Given the description of an element on the screen output the (x, y) to click on. 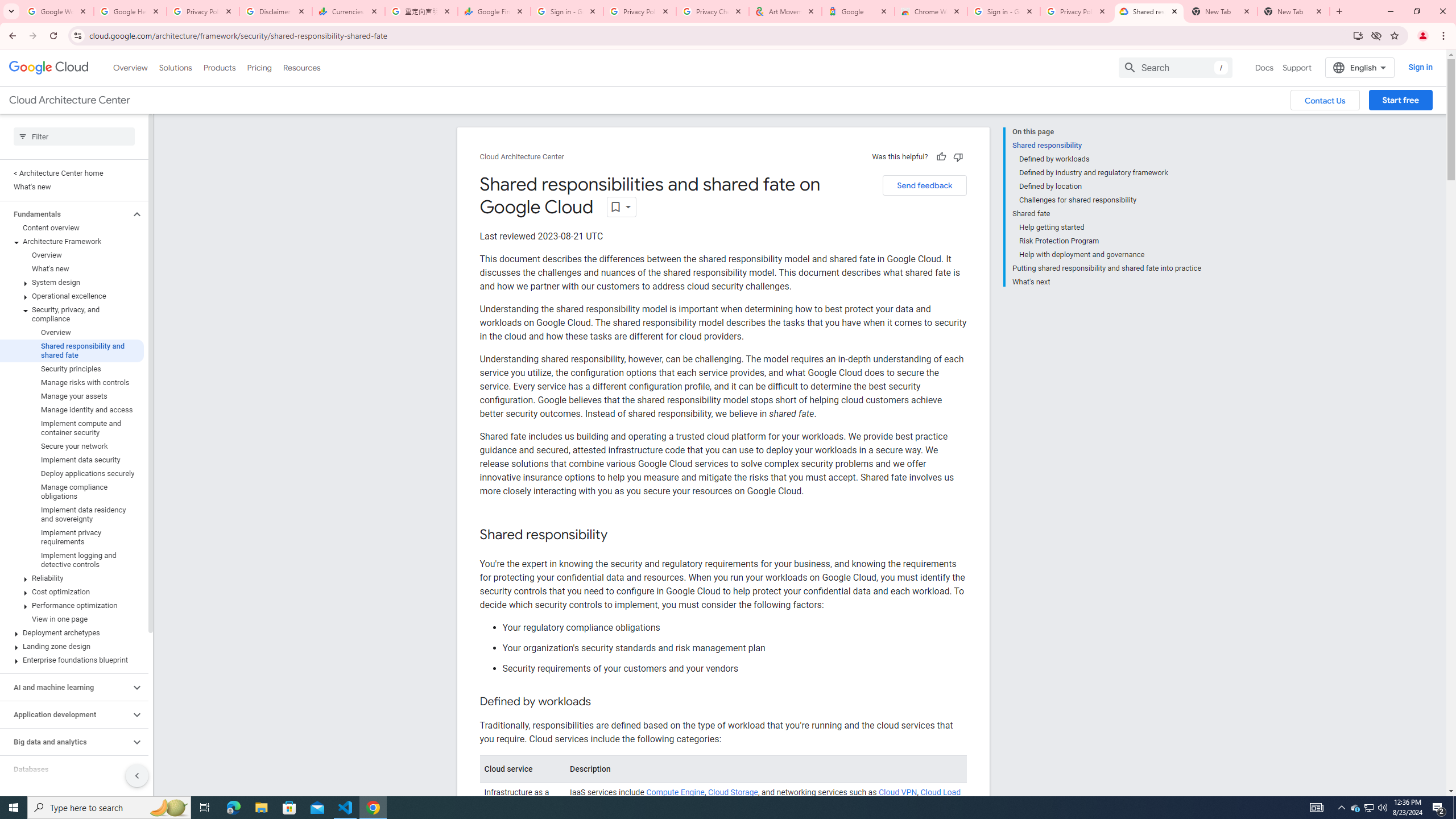
Currencies - Google Finance (348, 11)
Sign in - Google Accounts (1003, 11)
Compute Engine (675, 792)
Manage compliance obligations (72, 491)
Big data and analytics (64, 742)
Copy link to this section: Shared responsibility (618, 535)
Shared responsibility (1106, 145)
Deployment archetypes (72, 632)
Implement logging and detective controls (72, 559)
